Given the description of an element on the screen output the (x, y) to click on. 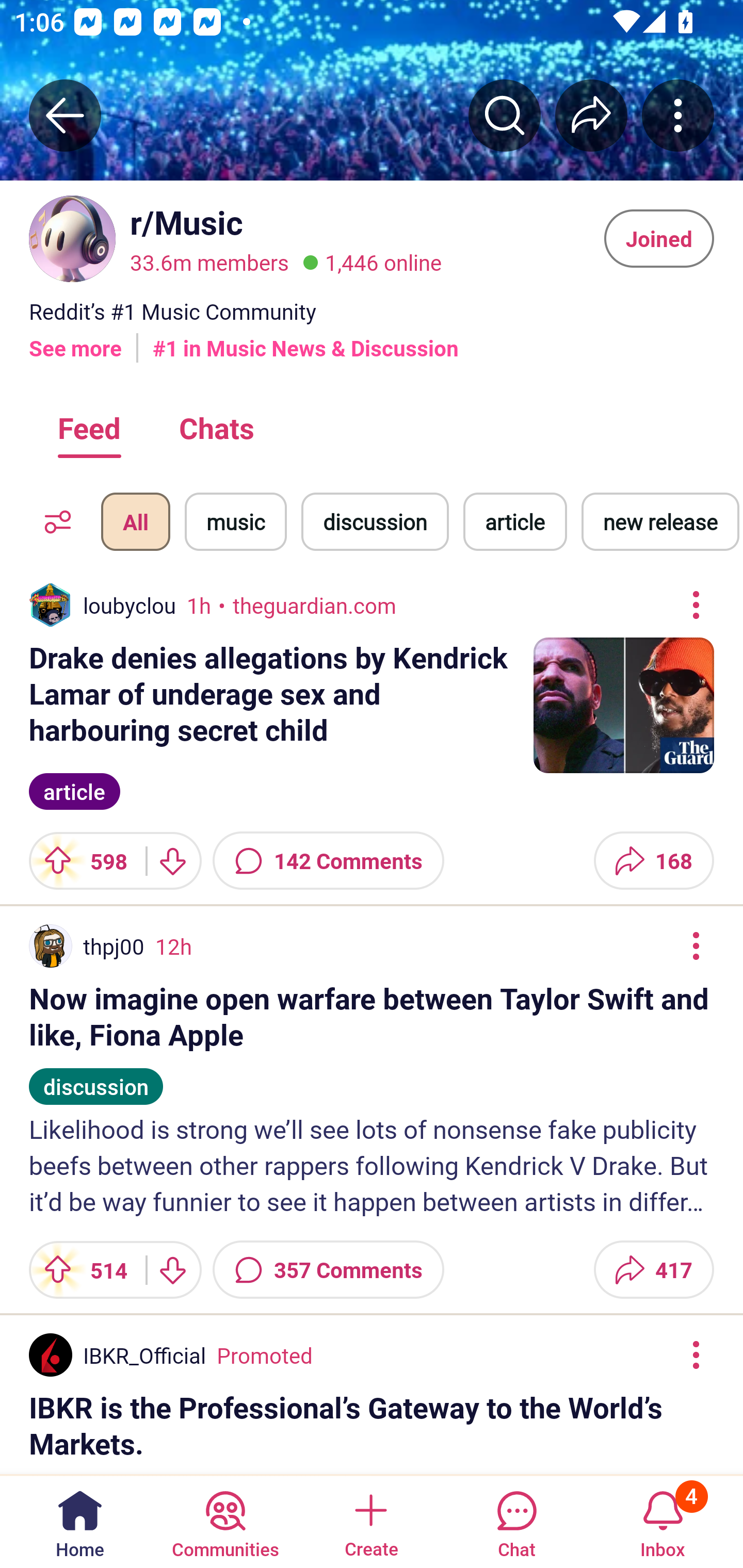
Back (64, 115)
Search r/﻿Music (504, 115)
Share r/﻿Music (591, 115)
More community actions (677, 115)
Chats (216, 427)
Feed Options (53, 521)
All (135, 521)
music (235, 521)
discussion (374, 521)
article (514, 521)
new release (660, 521)
article (74, 789)
discussion (95, 1076)
Home (80, 1520)
Communities (225, 1520)
Create a post Create (370, 1520)
Chat (516, 1520)
Inbox, has 4 notifications 4 Inbox (662, 1520)
